Given the description of an element on the screen output the (x, y) to click on. 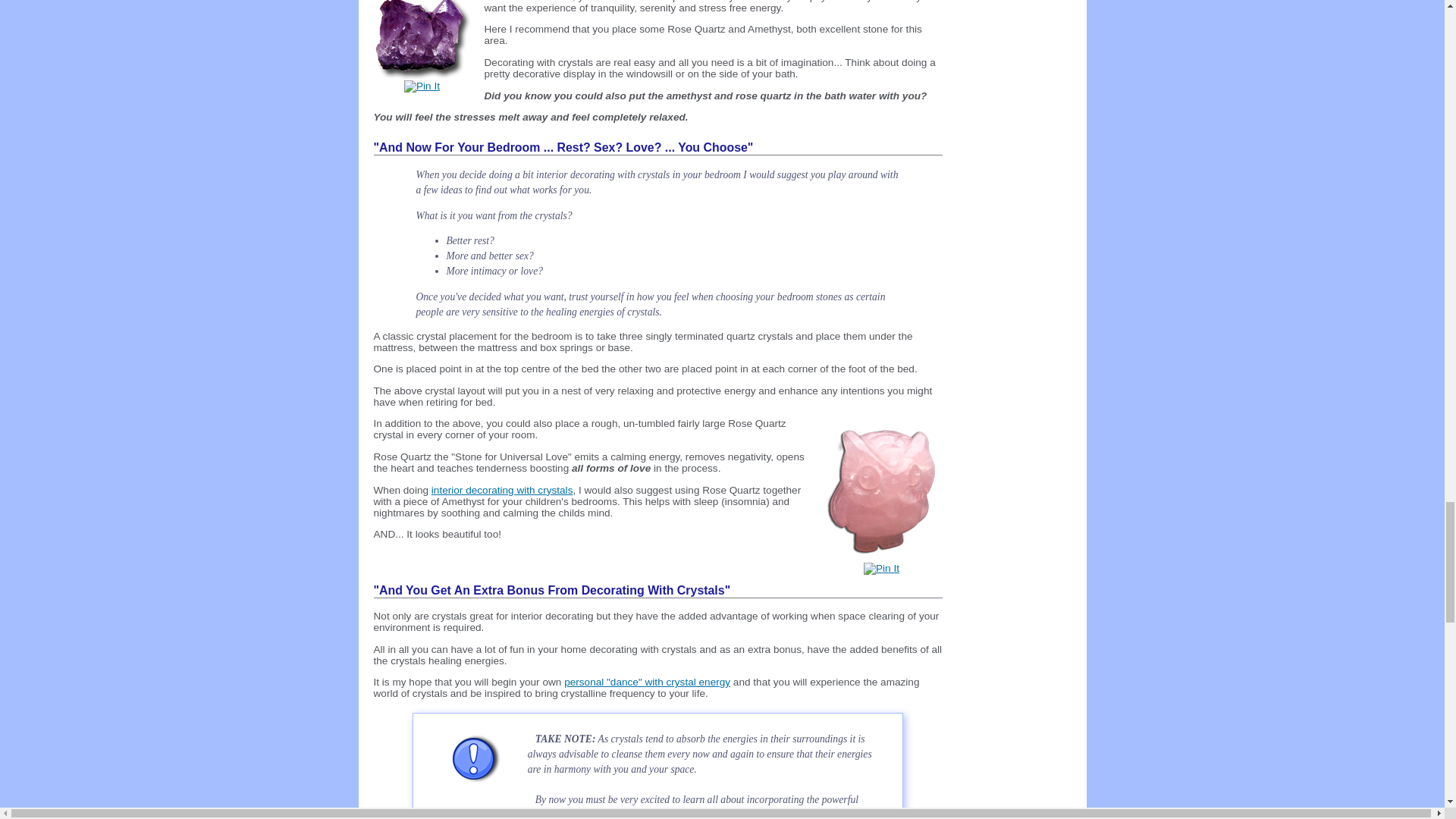
Pin It (881, 568)
Pin It (421, 86)
Crystal Courses (647, 681)
Important Note - Decorating with Crystals (501, 490)
